Given the description of an element on the screen output the (x, y) to click on. 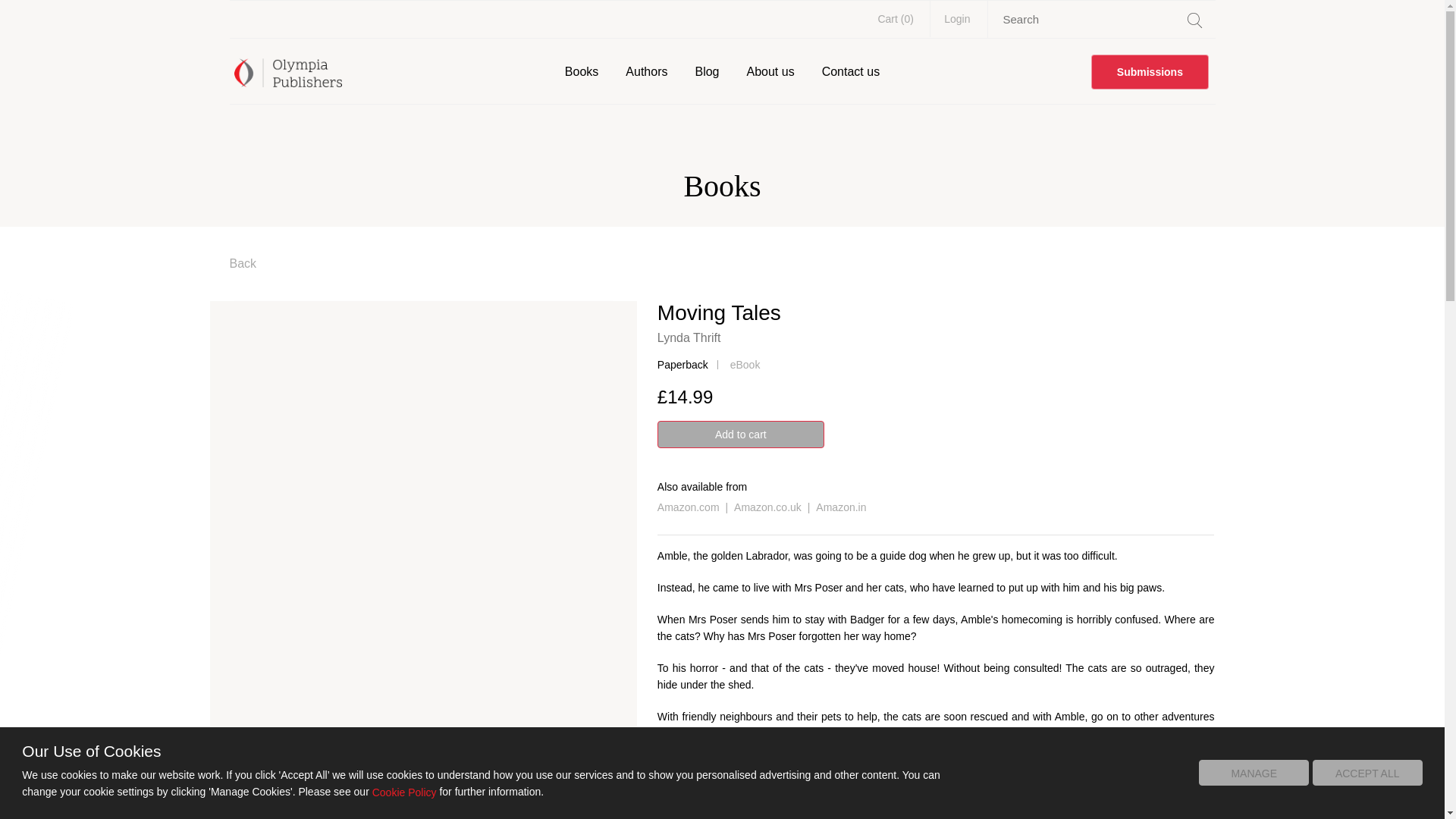
Submissions (1149, 71)
Login (957, 18)
Contact us (849, 71)
About us (769, 71)
Blog (706, 71)
Books (581, 71)
Authors (646, 71)
